Given the description of an element on the screen output the (x, y) to click on. 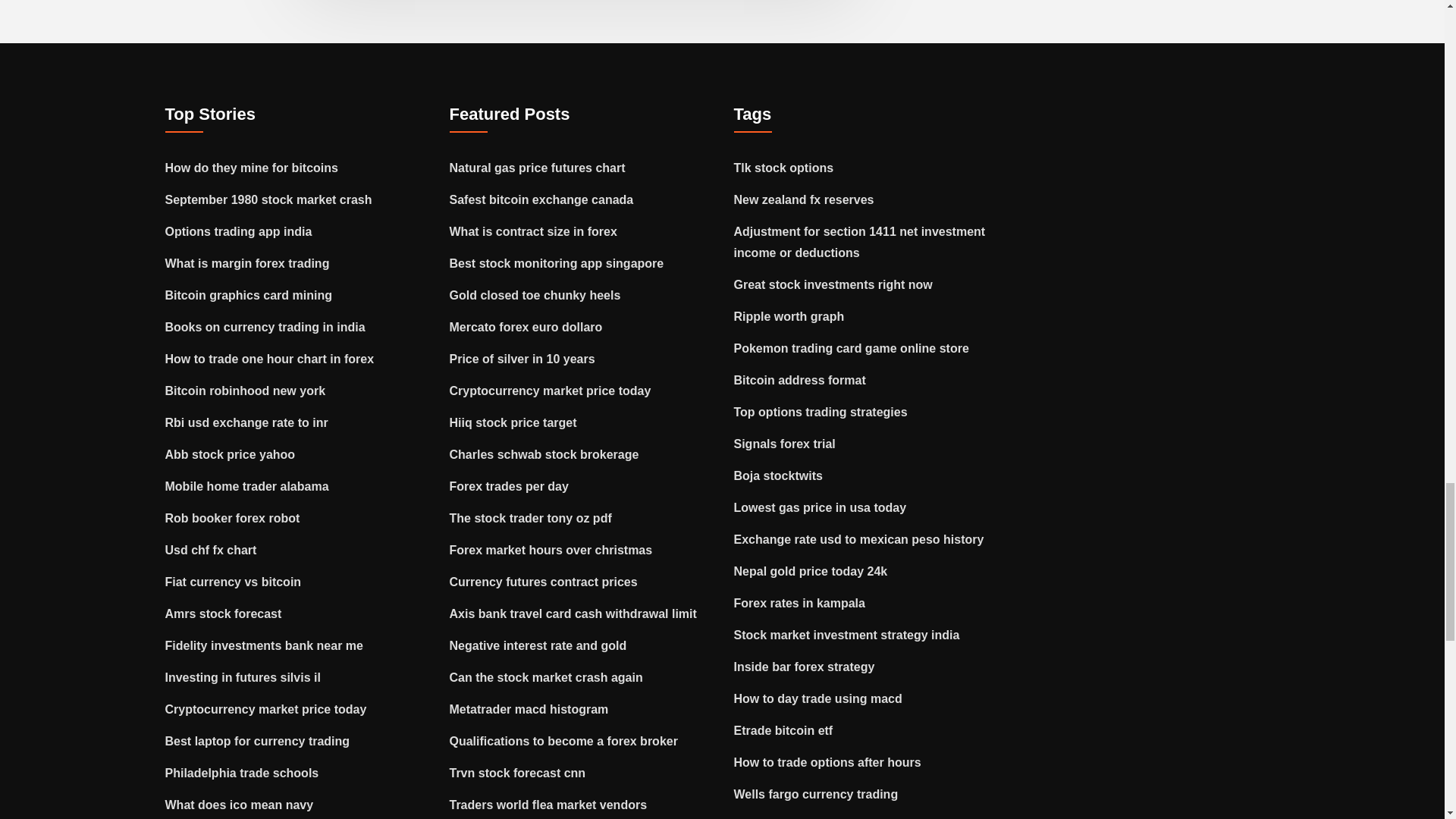
Best laptop for currency trading (257, 740)
Abb stock price yahoo (230, 454)
Fiat currency vs bitcoin (233, 581)
Amrs stock forecast (223, 613)
Options trading app india (239, 231)
What does ico mean navy (239, 804)
Philadelphia trade schools (241, 772)
Rbi usd exchange rate to inr (247, 422)
Usd chf fx chart (211, 549)
Bitcoin graphics card mining (248, 295)
